Given the description of an element on the screen output the (x, y) to click on. 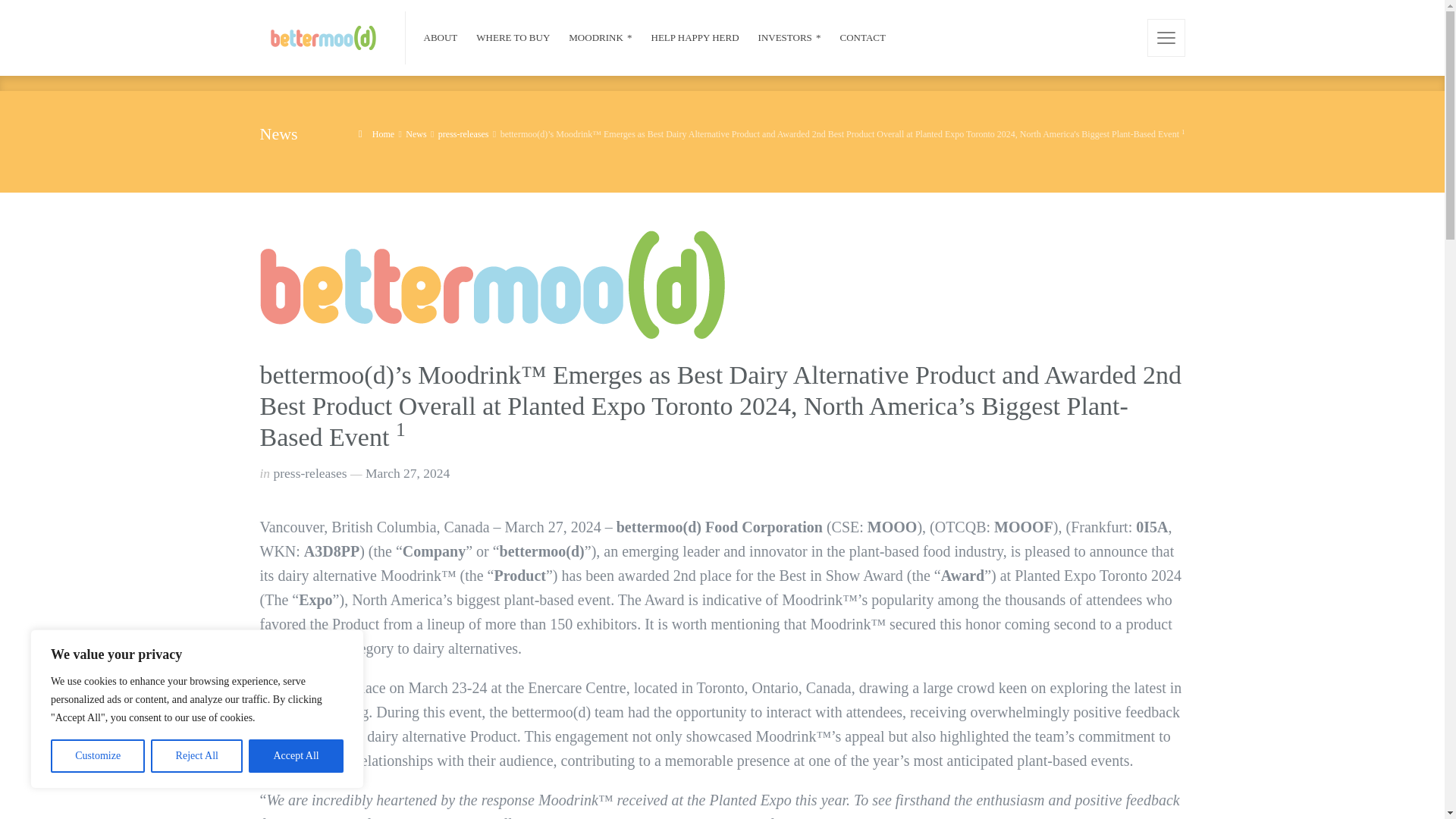
Enlarge Image (491, 284)
WHERE TO BUY (513, 37)
Reject All (197, 756)
CONTACT (858, 37)
HELP HAPPY HERD (695, 37)
INVESTORS (790, 37)
Accept All (295, 756)
MOODRINK (600, 37)
Customize (97, 756)
Side Panel (1166, 37)
